Given the description of an element on the screen output the (x, y) to click on. 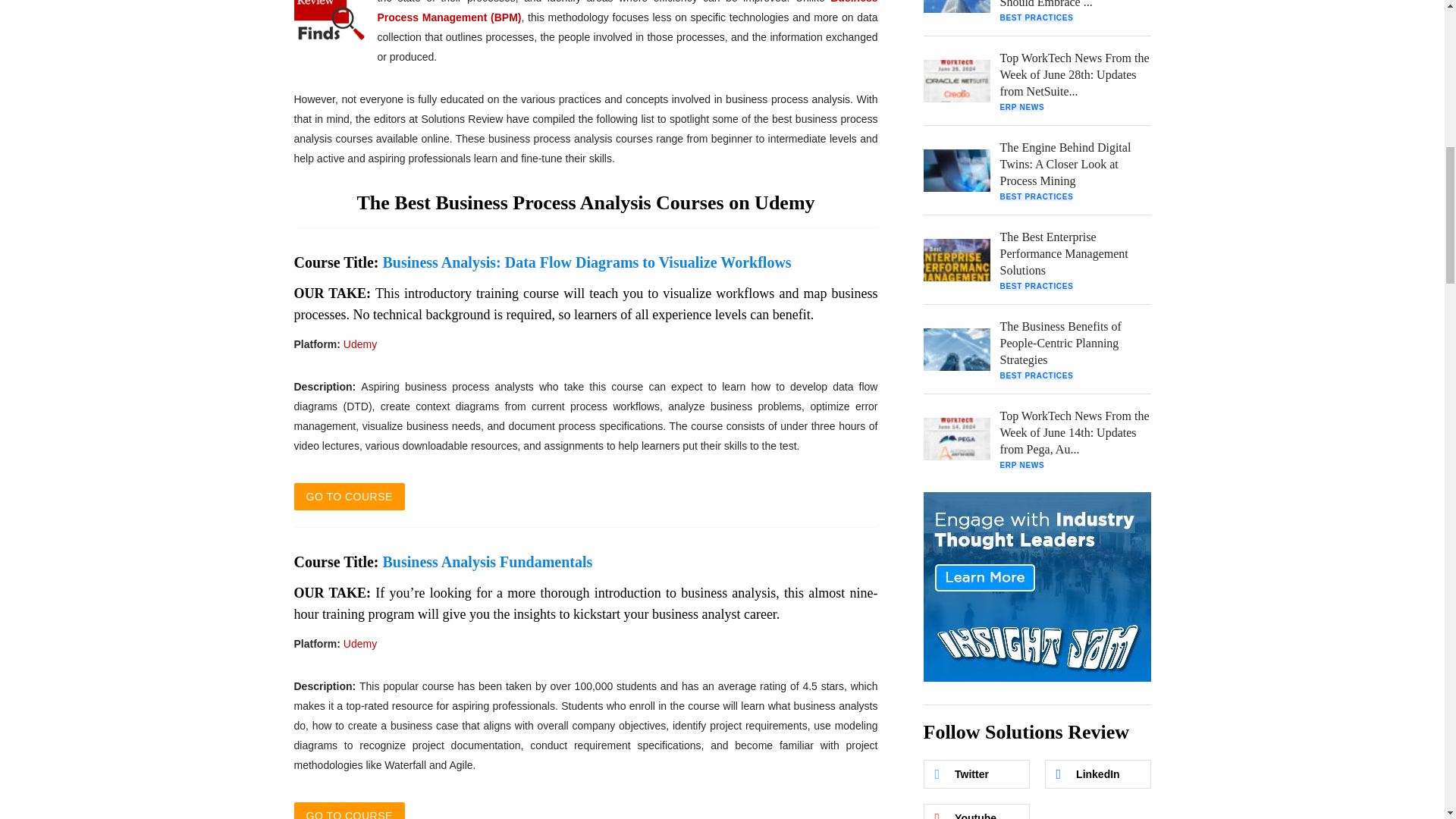
Insight Jam Ad (1037, 586)
GO TO COURSE (349, 496)
Course Title: Business Analysis Fundamentals (443, 561)
Udemy (360, 644)
Udemy (360, 344)
GO TO COURSE (349, 810)
